Given the description of an element on the screen output the (x, y) to click on. 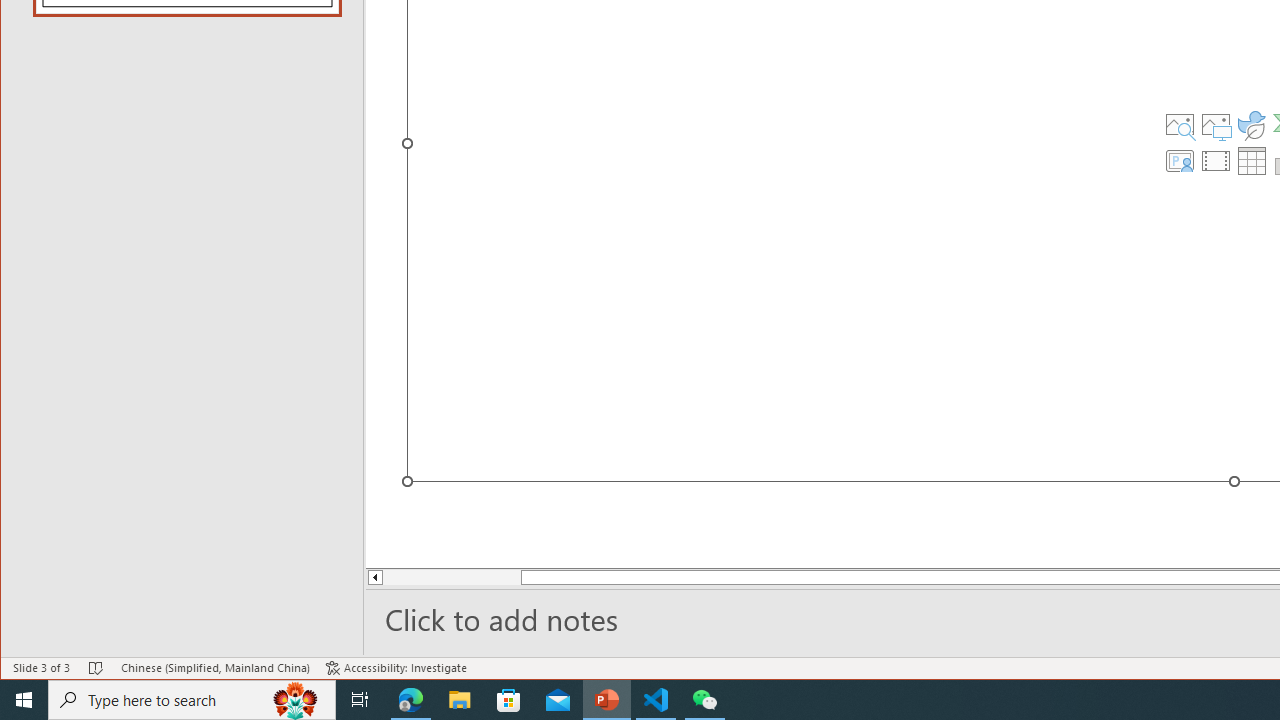
Insert Cameo (1179, 160)
Microsoft Edge - 1 running window (411, 699)
Pictures (1215, 124)
WeChat - 1 running window (704, 699)
Insert an Icon (1252, 124)
Insert Video (1215, 160)
Insert Table (1252, 160)
